Given the description of an element on the screen output the (x, y) to click on. 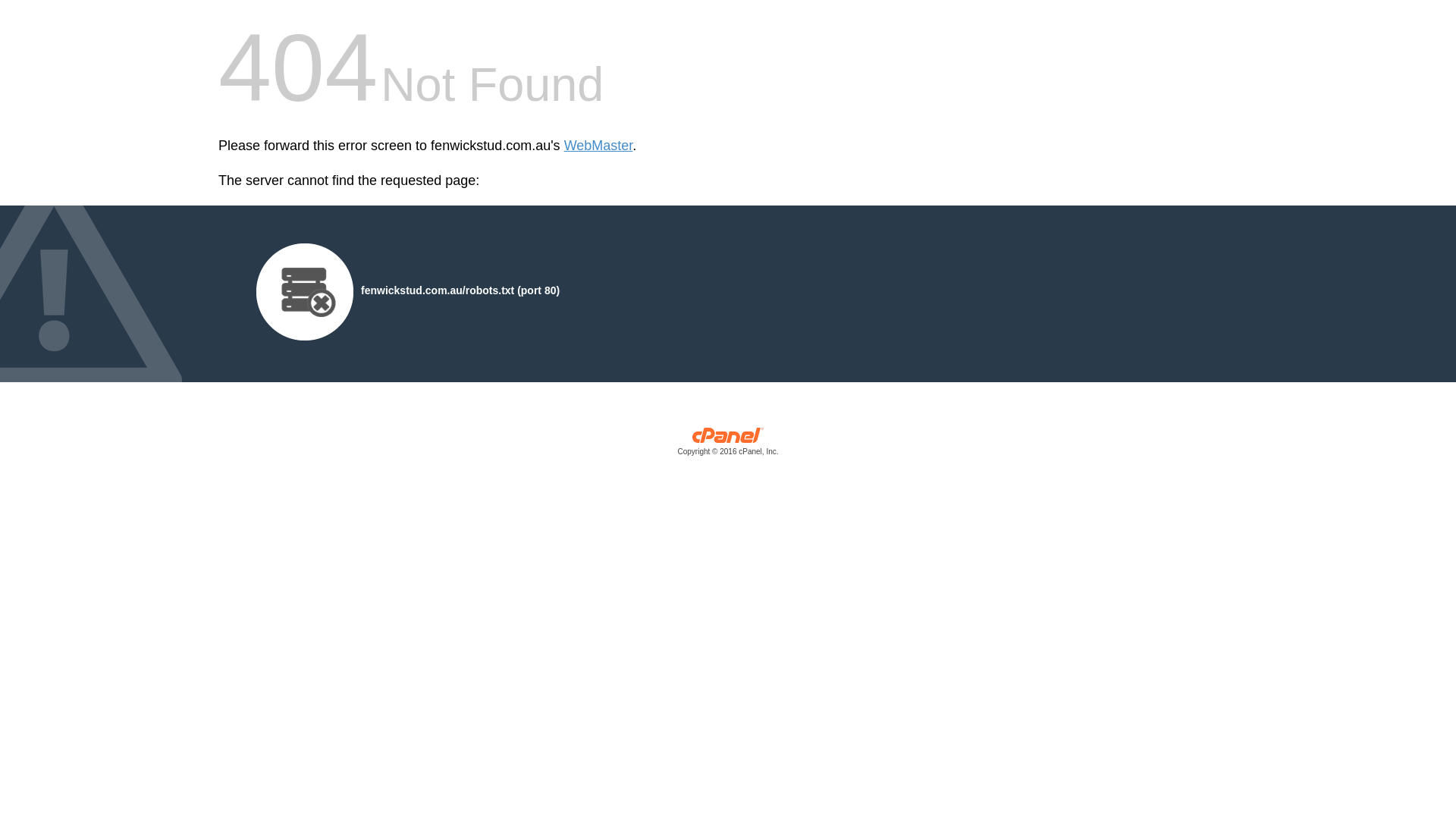
WebMaster Element type: text (598, 145)
